Given the description of an element on the screen output the (x, y) to click on. 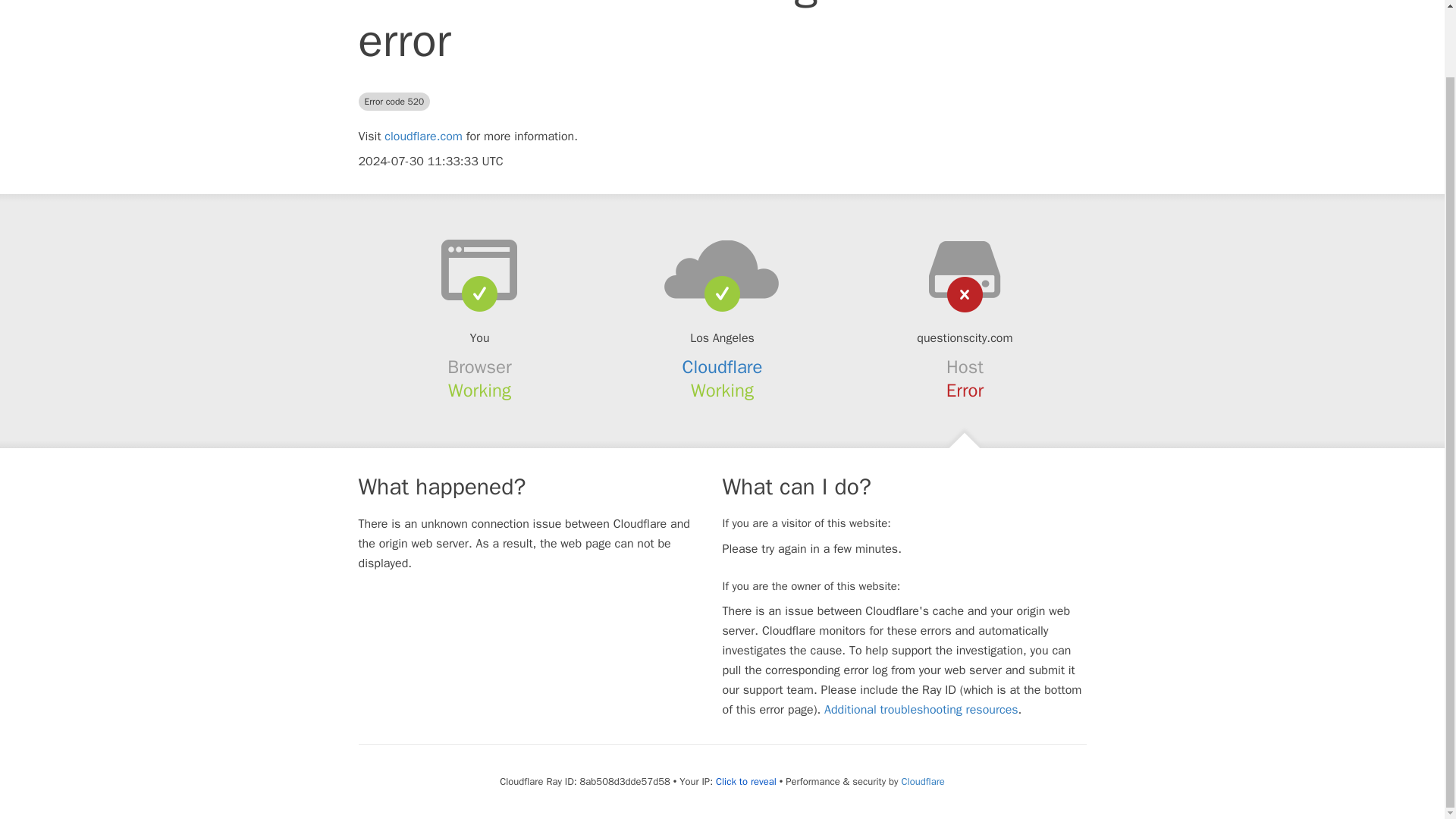
Cloudflare (922, 780)
cloudflare.com (423, 136)
Cloudflare (722, 366)
Click to reveal (746, 781)
Additional troubleshooting resources (920, 709)
